Given the description of an element on the screen output the (x, y) to click on. 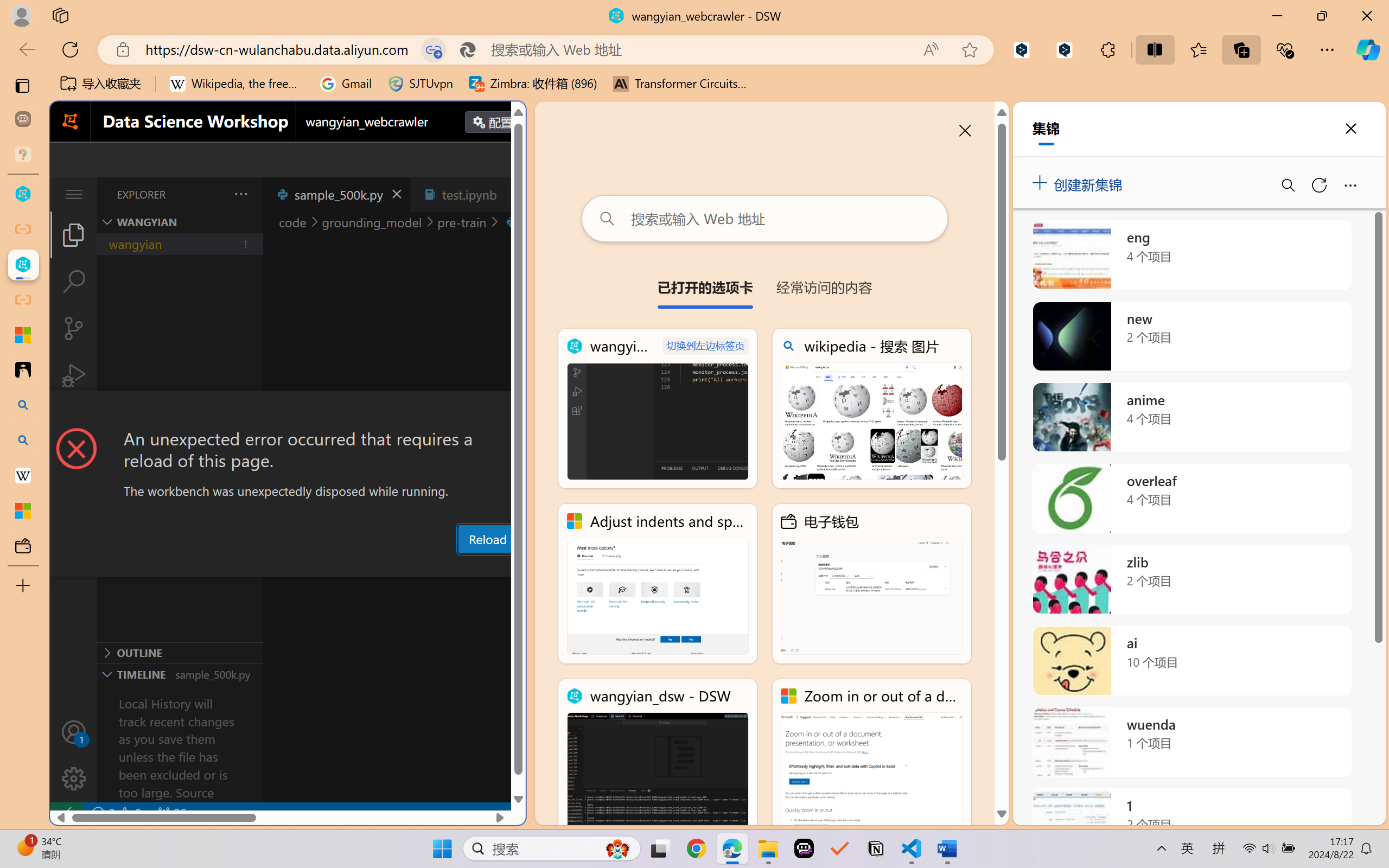
Terminal (Ctrl+`) (553, 565)
Copilot (Ctrl+Shift+.) (1368, 49)
Earth - Wikipedia (22, 475)
wangyian_webcrawler - DSW (22, 264)
Views and More Actions... (240, 193)
Outline Section (179, 652)
